Given the description of an element on the screen output the (x, y) to click on. 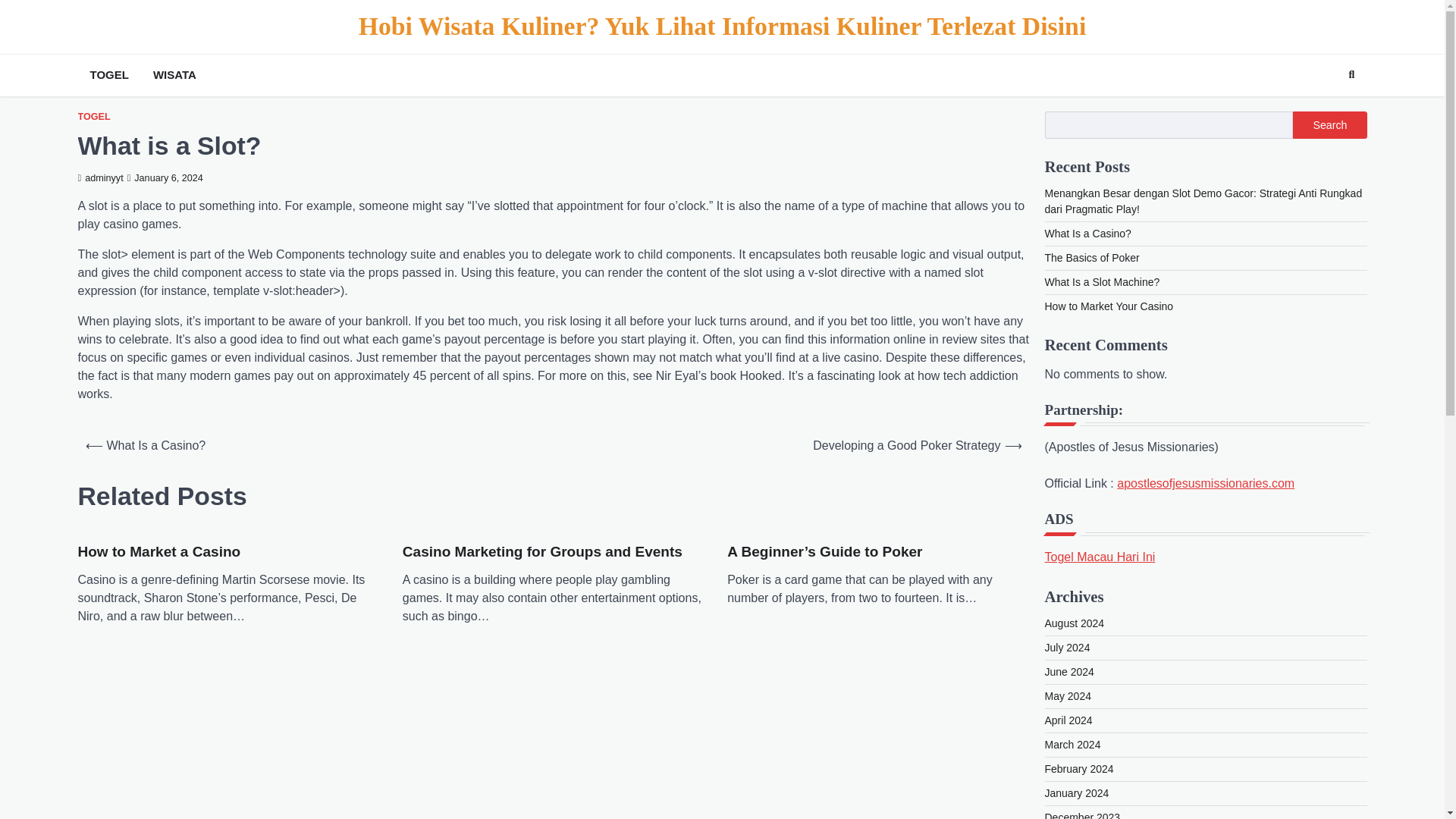
What Is a Slot Machine? (1102, 282)
August 2024 (1075, 623)
Search (1351, 74)
Casino Marketing for Groups and Events (542, 552)
December 2023 (1083, 815)
Search (1329, 124)
TOGEL (107, 75)
TOGEL (93, 116)
adminyyt (99, 177)
